Given the description of an element on the screen output the (x, y) to click on. 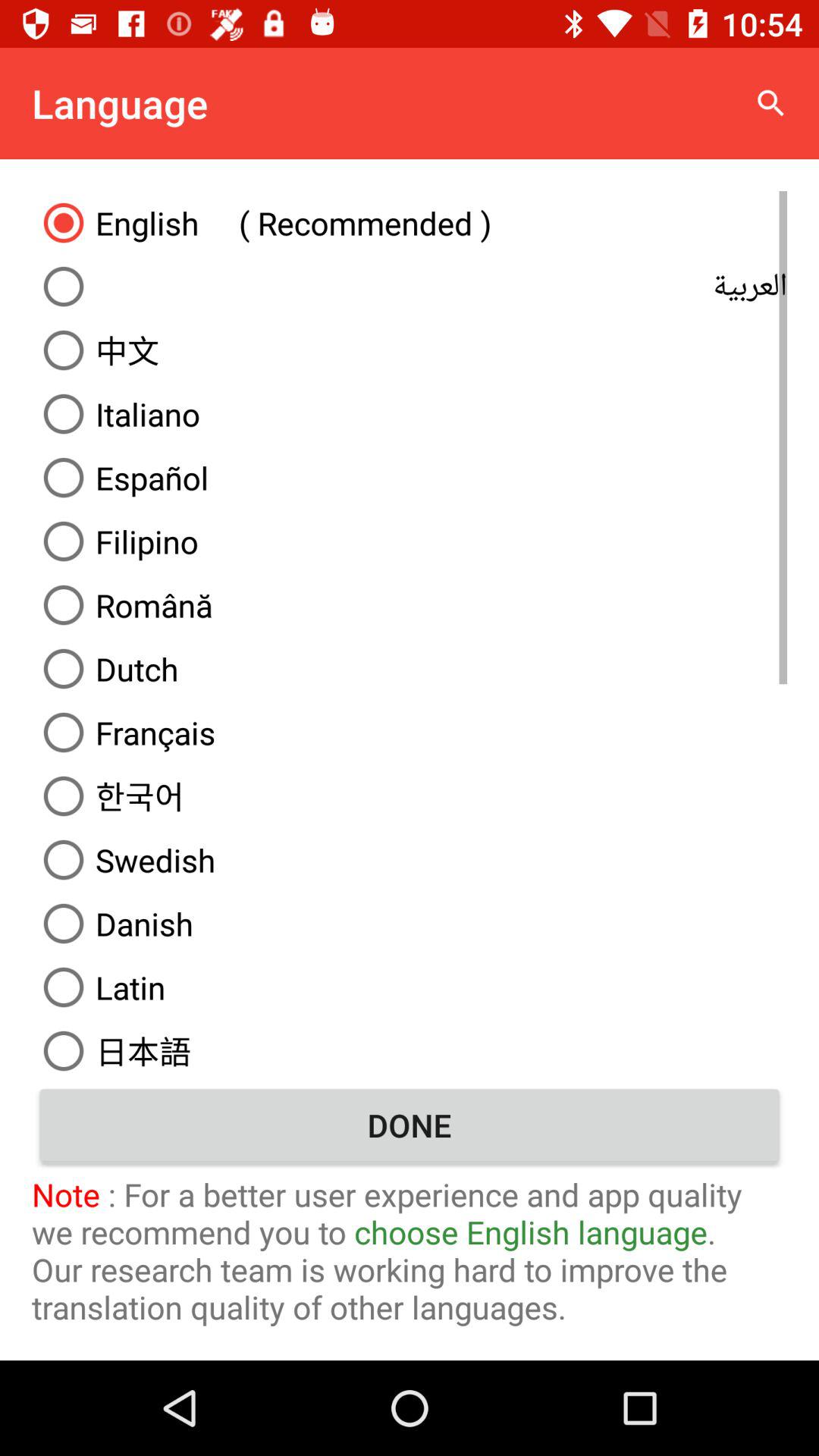
turn on the item above italiano (409, 350)
